Given the description of an element on the screen output the (x, y) to click on. 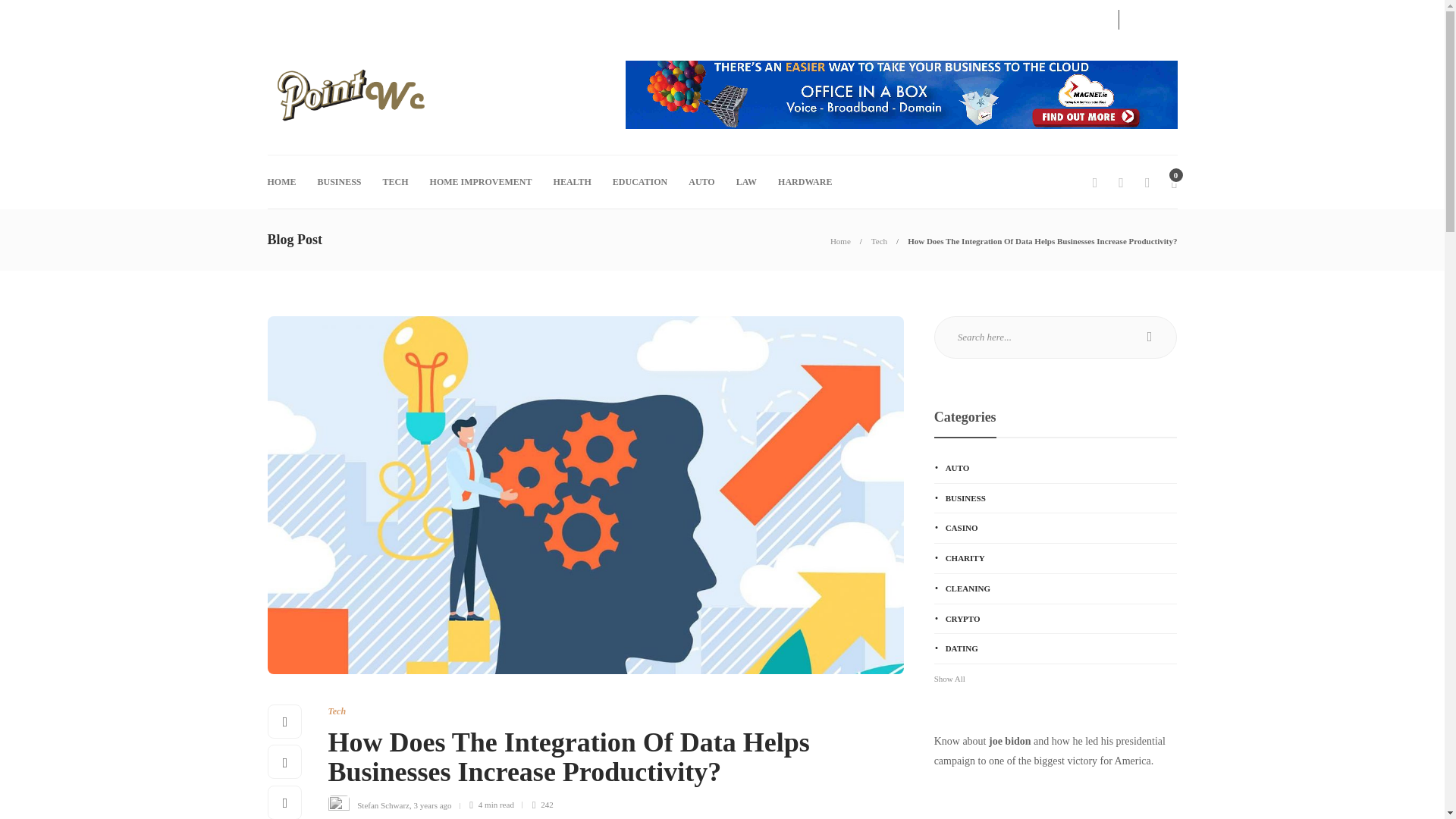
Home (839, 240)
LOG IN (1077, 17)
Home (839, 240)
Search text (1055, 337)
EDUCATION (639, 181)
HOME IMPROVEMENT (480, 181)
Contact us (287, 17)
HARDWARE (804, 181)
Tech (878, 240)
